Given the description of an element on the screen output the (x, y) to click on. 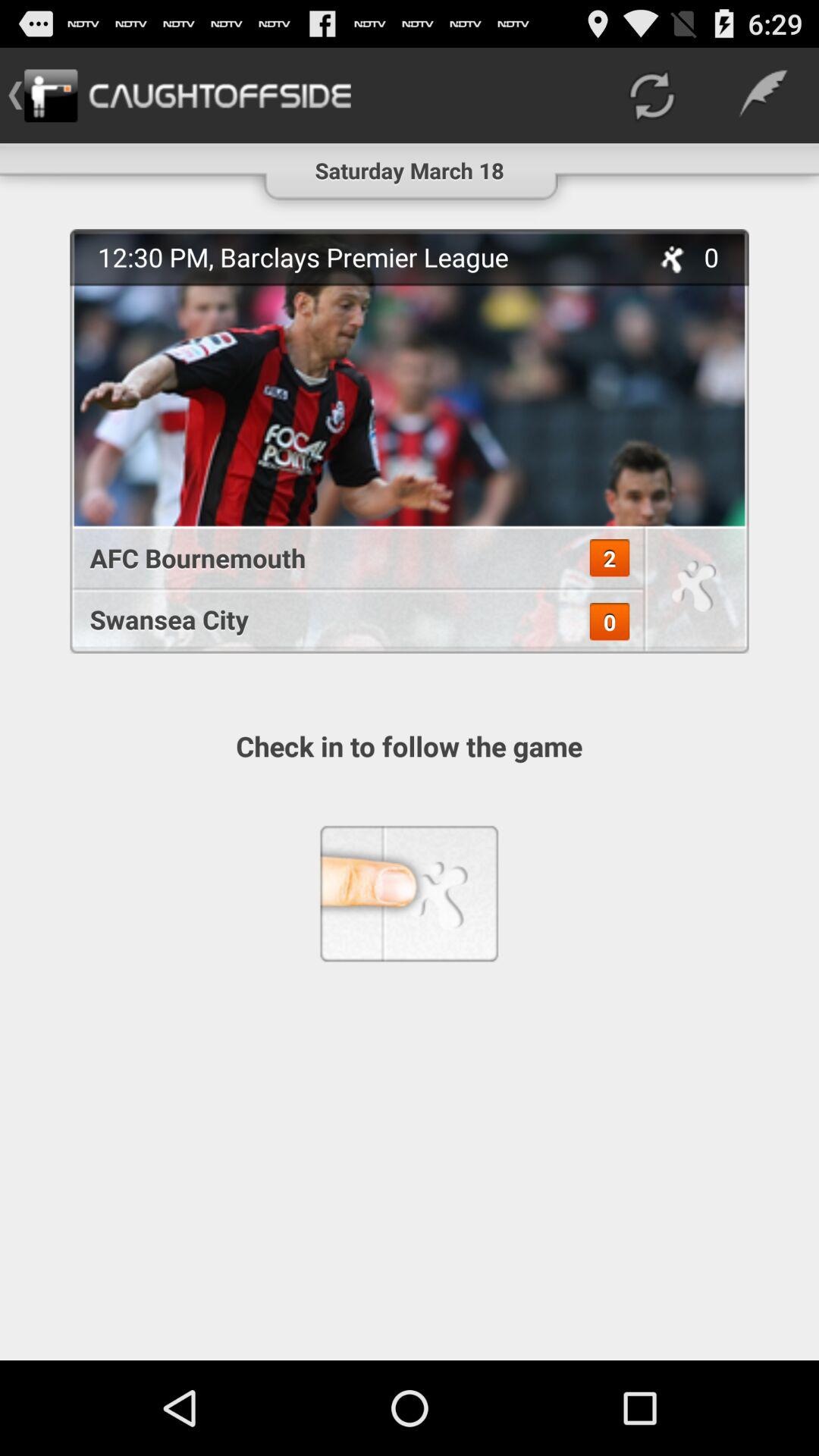
jump to the afc bournemouth icon (348, 557)
